Given the description of an element on the screen output the (x, y) to click on. 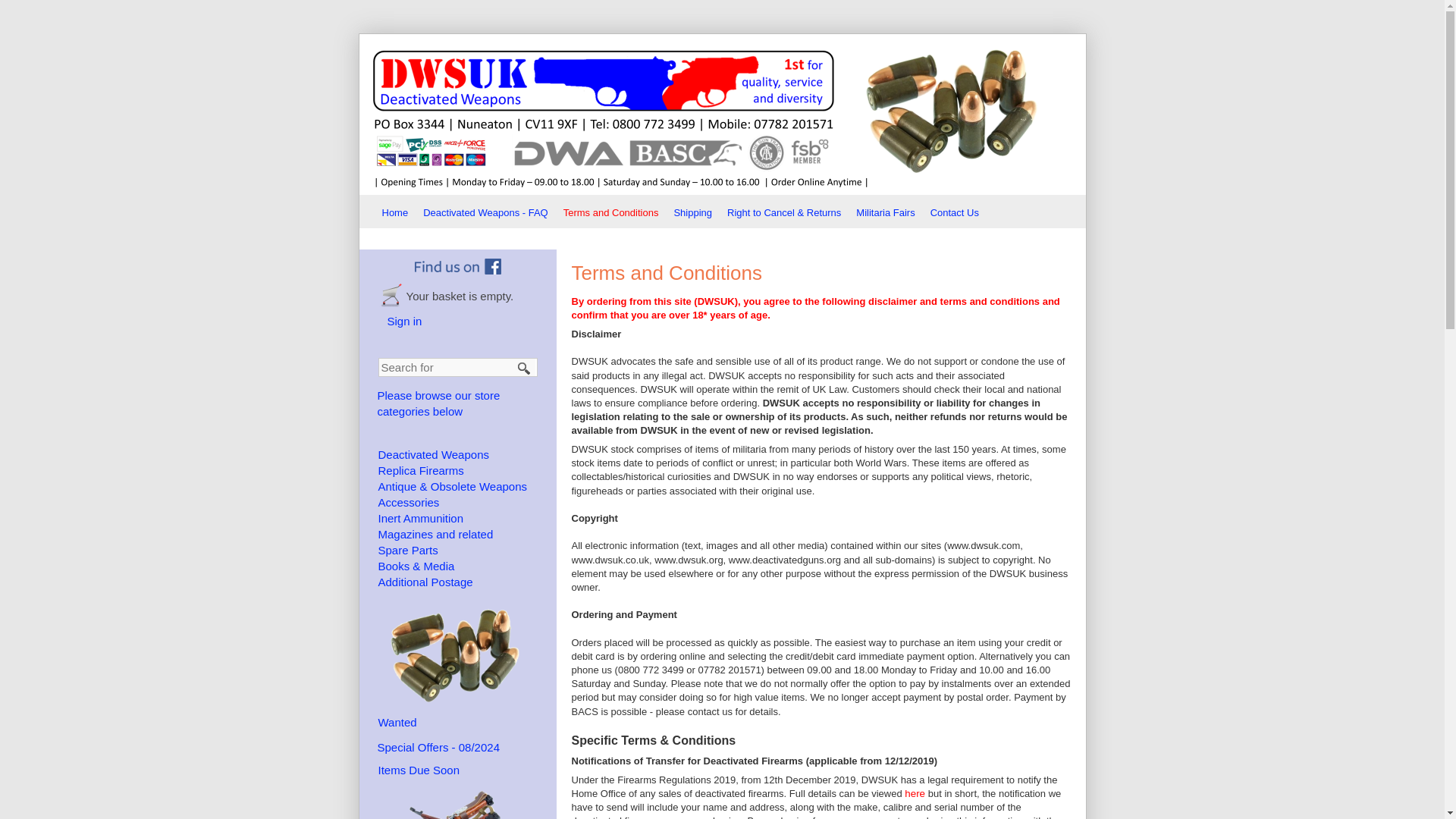
Spare Parts (407, 549)
Terms and Conditions (614, 212)
Contact Us (958, 211)
Inert Ammunition (420, 517)
Wanted (396, 721)
Deactivated Weapons (432, 454)
Magazines and related (435, 533)
Home (398, 211)
Militaria Fairs (888, 211)
Replica Firearms (420, 470)
here (915, 793)
Start search (523, 367)
See our latest stock on our Facebook page (456, 266)
Additional Postage (424, 581)
Items Due Soon (418, 769)
